Given the description of an element on the screen output the (x, y) to click on. 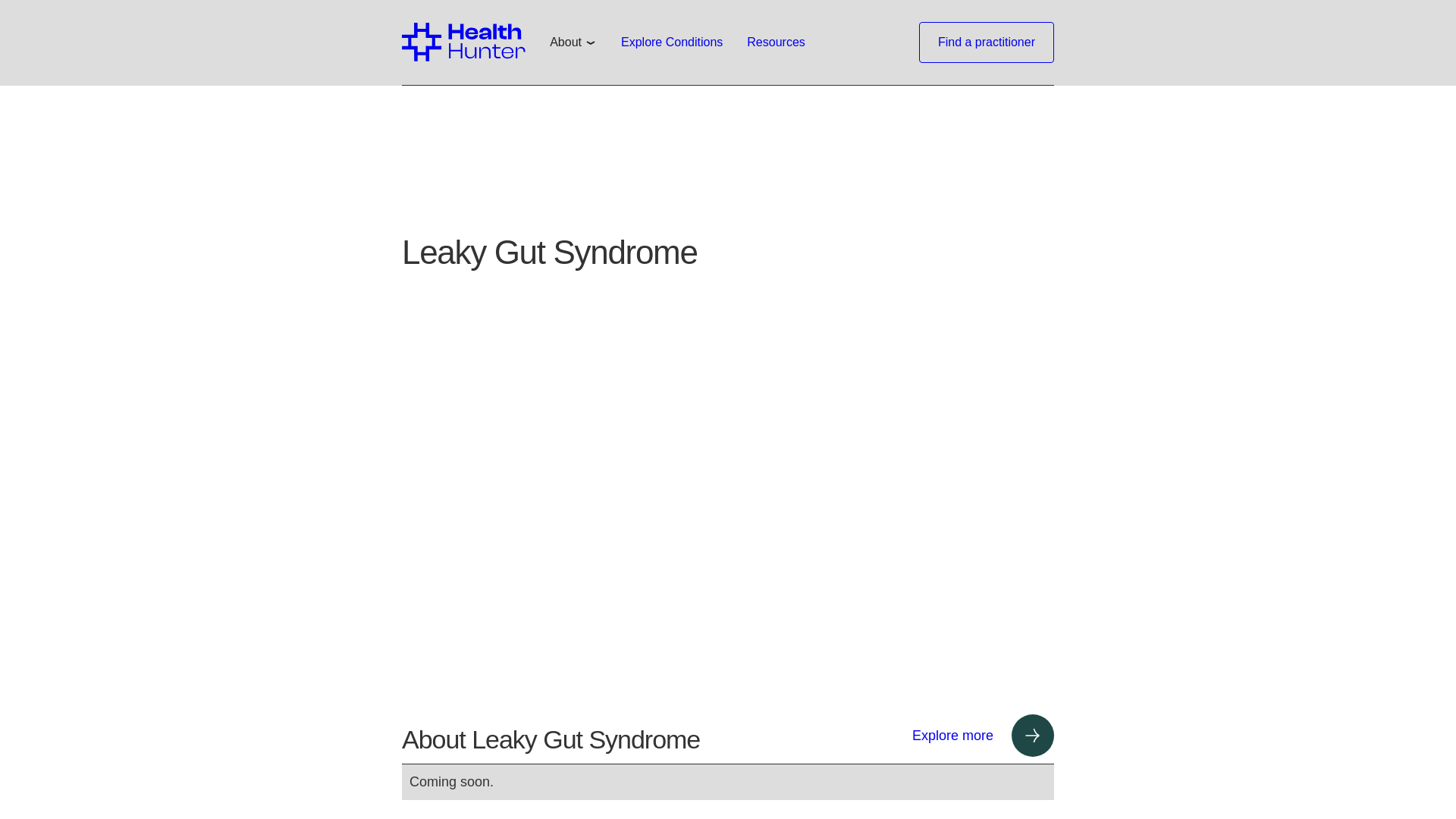
Find a practitioner (986, 42)
Explore more (983, 735)
Explore Conditions (671, 42)
Resources (775, 42)
